Given the description of an element on the screen output the (x, y) to click on. 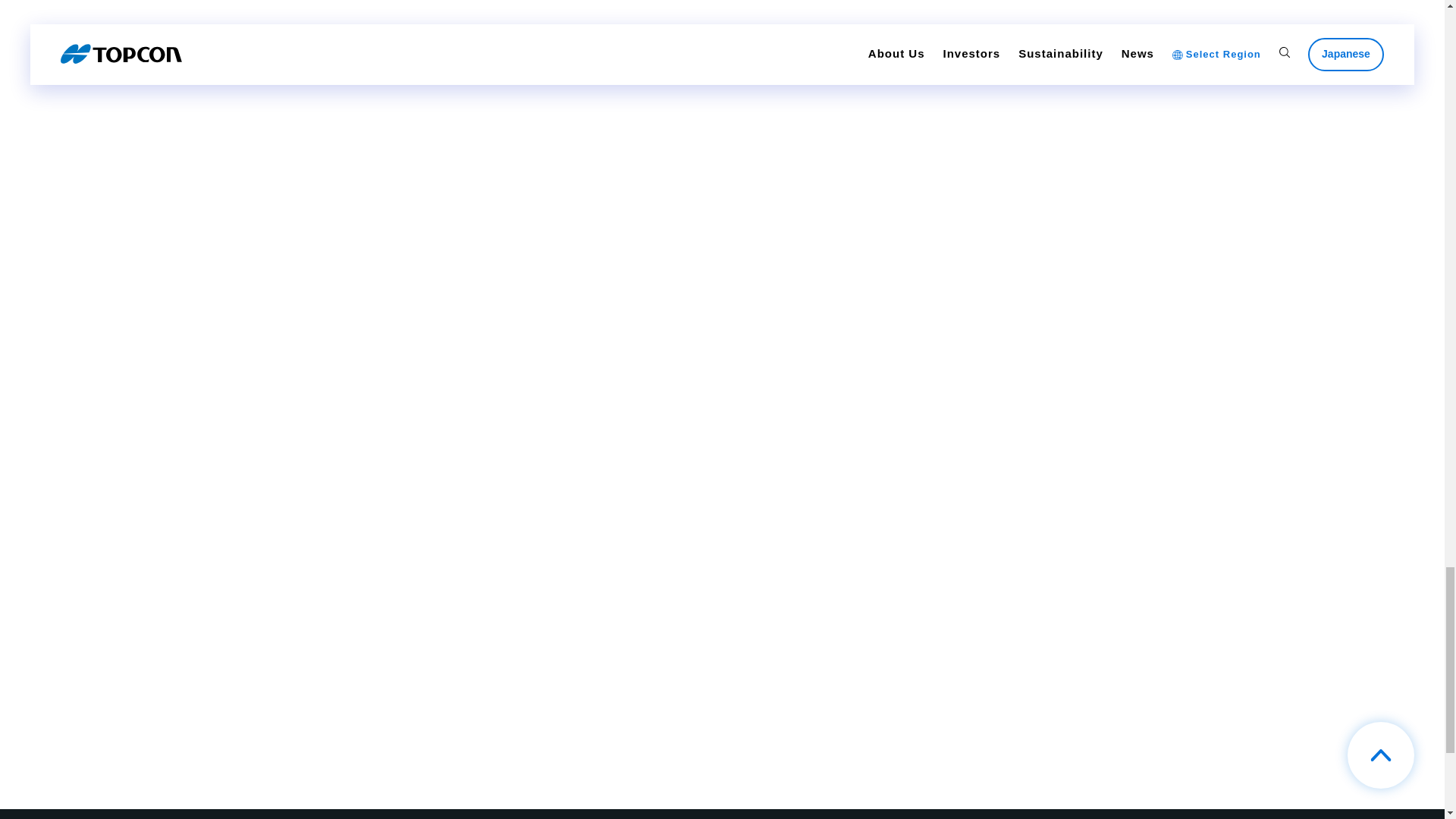
submit (946, 336)
